Given the description of an element on the screen output the (x, y) to click on. 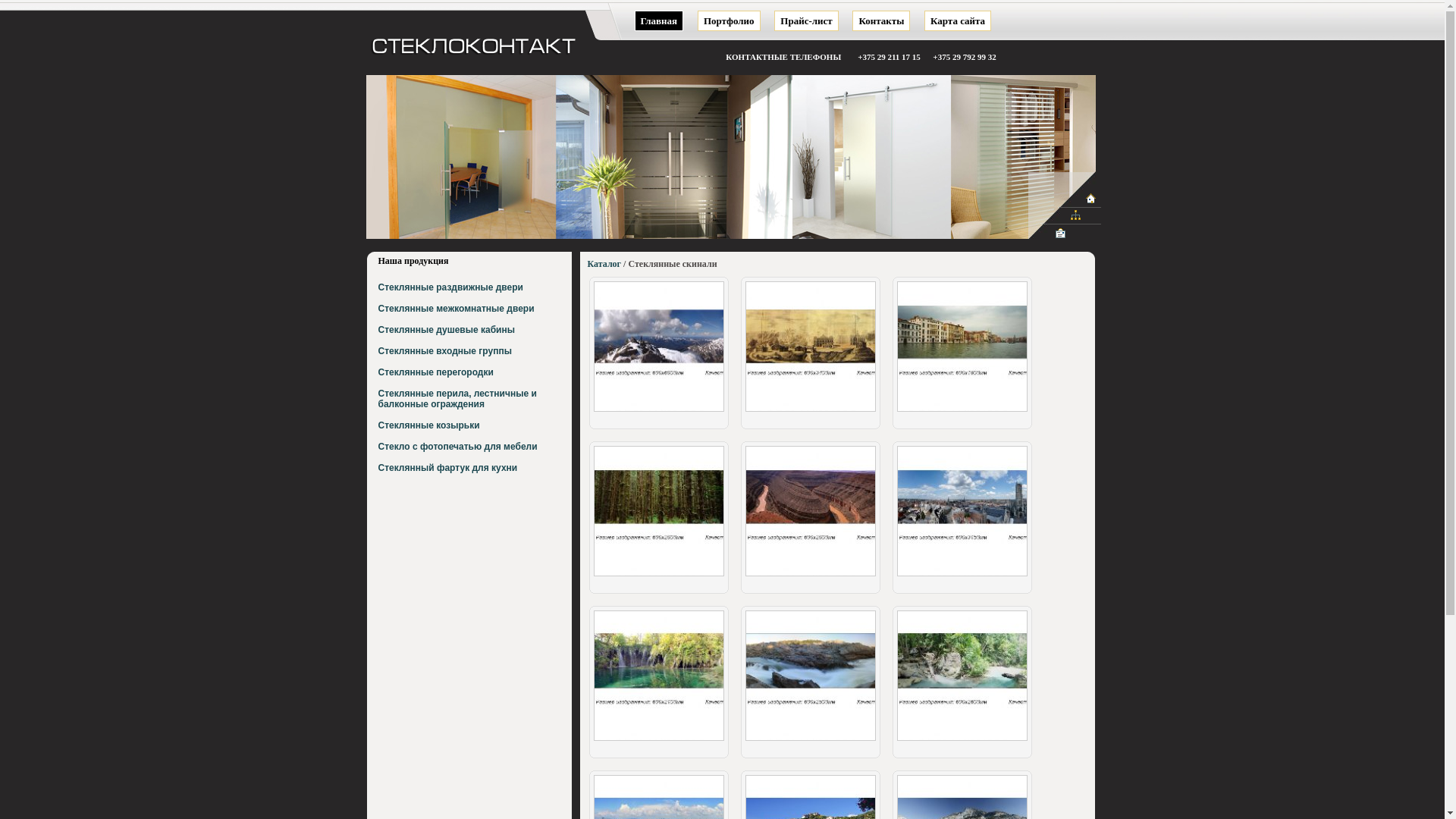
 -  Element type: hover (809, 410)
 -  Element type: hover (961, 739)
 -  Element type: hover (658, 575)
 -  Element type: hover (961, 575)
 -  Element type: hover (809, 739)
 -  Element type: hover (961, 410)
 -  Element type: hover (658, 739)
 -  Element type: hover (658, 410)
 -  Element type: hover (809, 575)
